Given the description of an element on the screen output the (x, y) to click on. 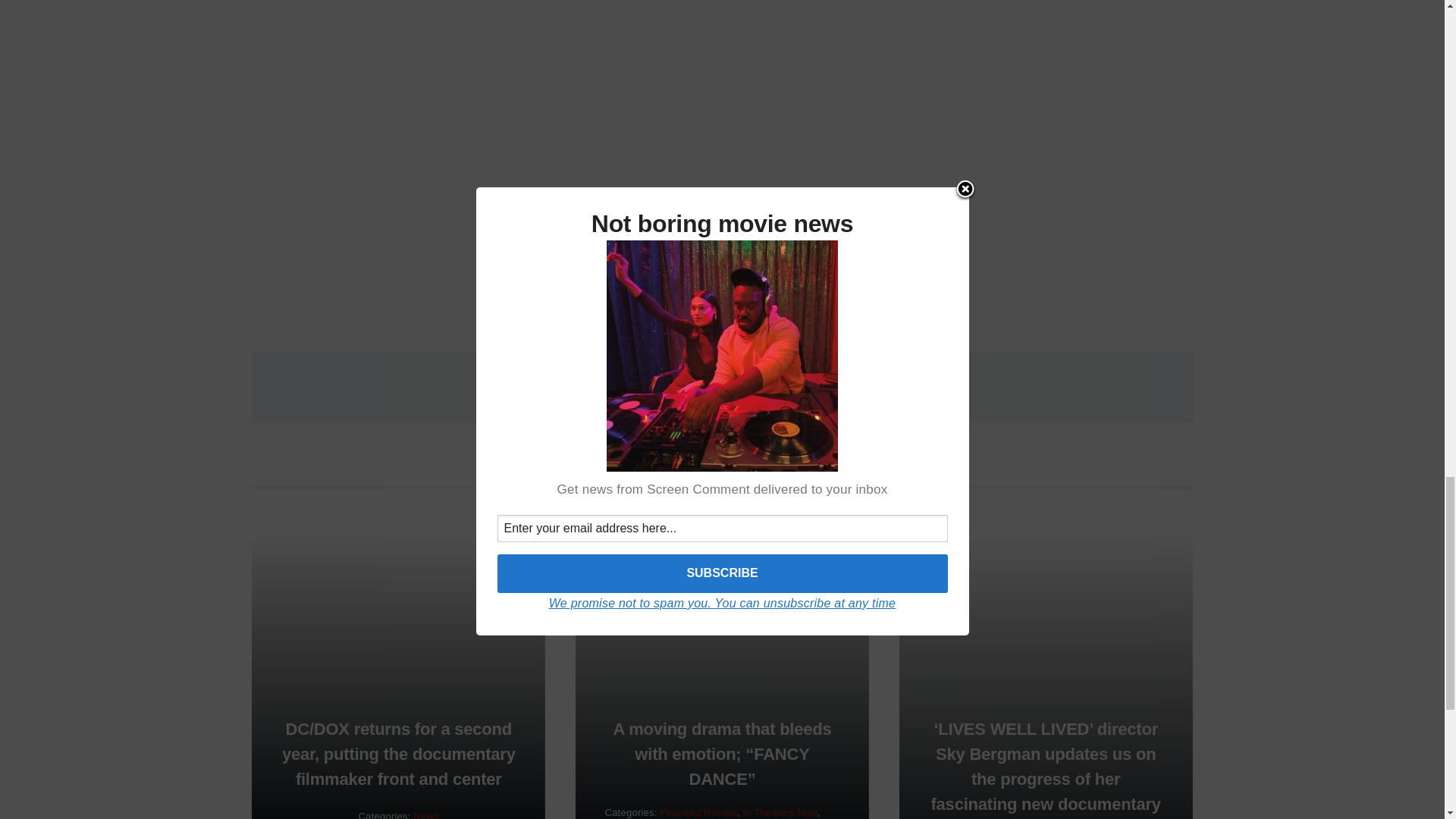
News (426, 814)
In Theaters Now (779, 812)
Featured Review (697, 812)
